Given the description of an element on the screen output the (x, y) to click on. 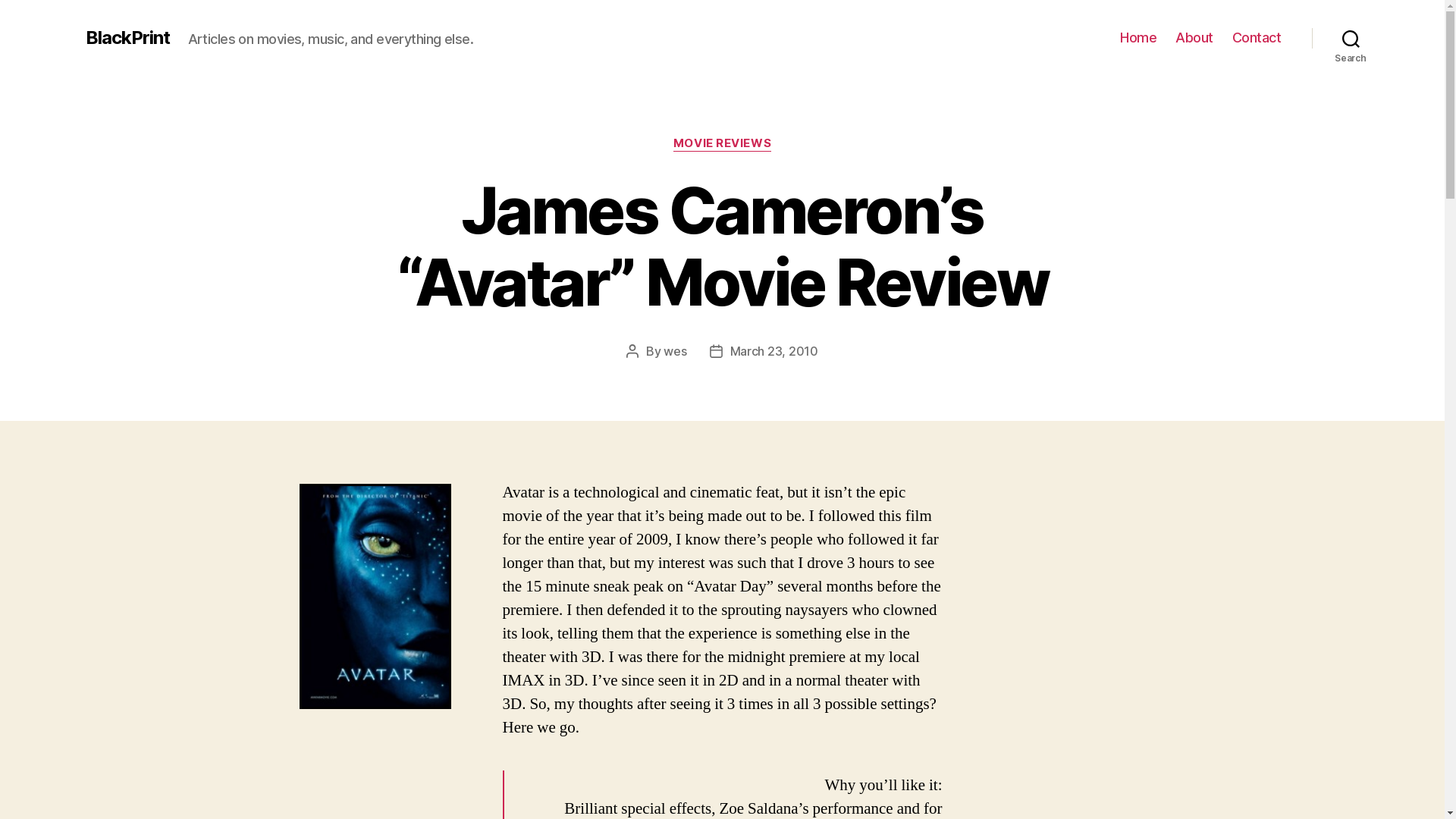
Search Element type: text (1350, 37)
March 23, 2010 Element type: text (774, 350)
Avatar poster Element type: hover (375, 596)
Home Element type: text (1138, 37)
wes Element type: text (674, 350)
BlackPrint Element type: text (126, 37)
About Element type: text (1194, 37)
Contact Element type: text (1256, 37)
MOVIE REVIEWS Element type: text (722, 143)
